Given the description of an element on the screen output the (x, y) to click on. 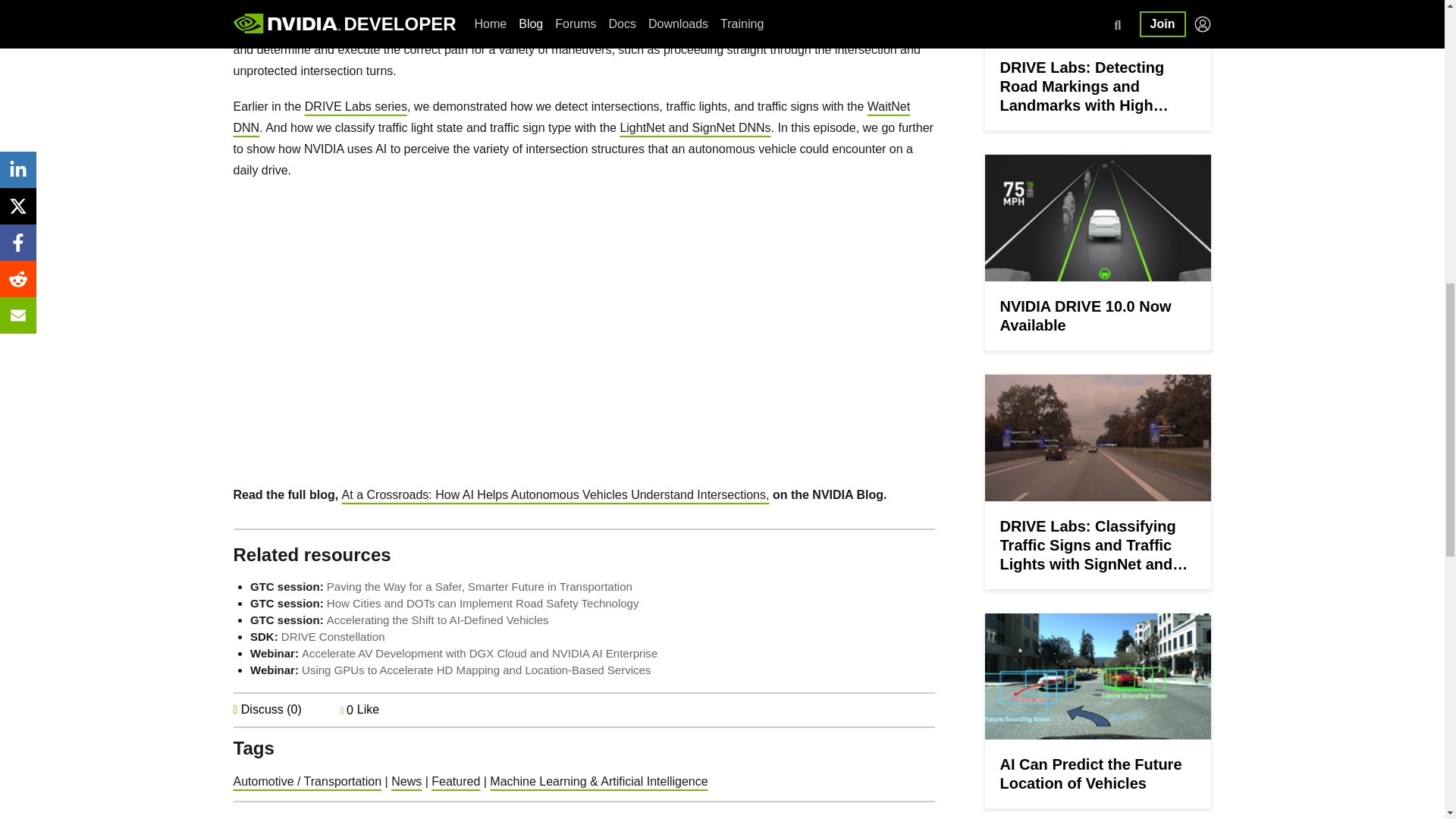
DRIVE Constellation (333, 635)
How Cities and DOTs can Implement Road Safety Technology (482, 603)
Accelerating the Shift to AI-Defined Vehicles (437, 619)
Featured (455, 780)
DRIVE Labs series (355, 106)
WaitNet DNN (571, 116)
LightNet and SignNet DNNs (695, 127)
Paving the Way for a Safer, Smarter Future in Transportation (478, 585)
News (406, 780)
